Given the description of an element on the screen output the (x, y) to click on. 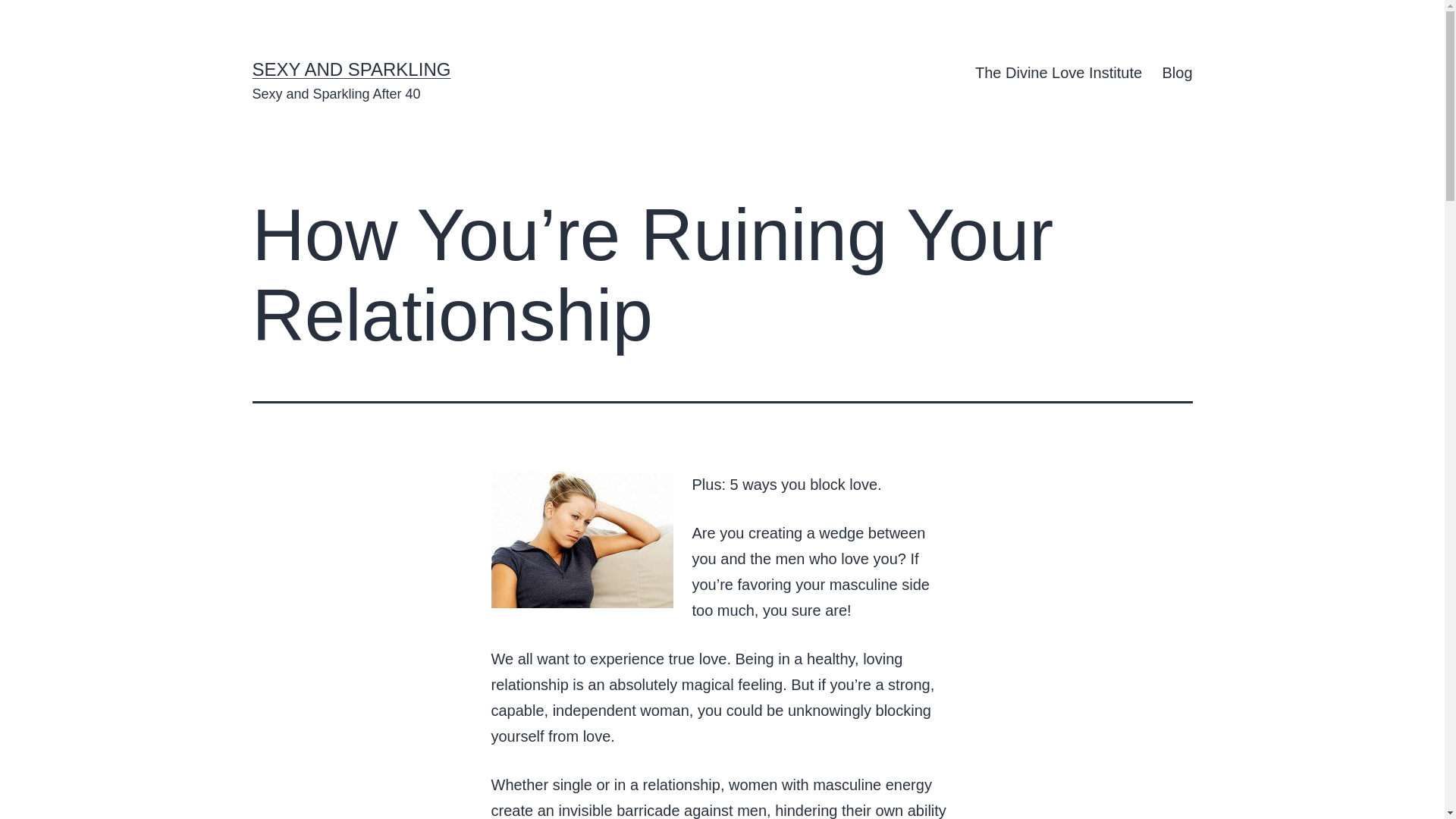
Pic:GrumpWoman (582, 539)
Blog (1176, 72)
SEXY AND SPARKLING (350, 68)
The Divine Love Institute (1059, 72)
